Given the description of an element on the screen output the (x, y) to click on. 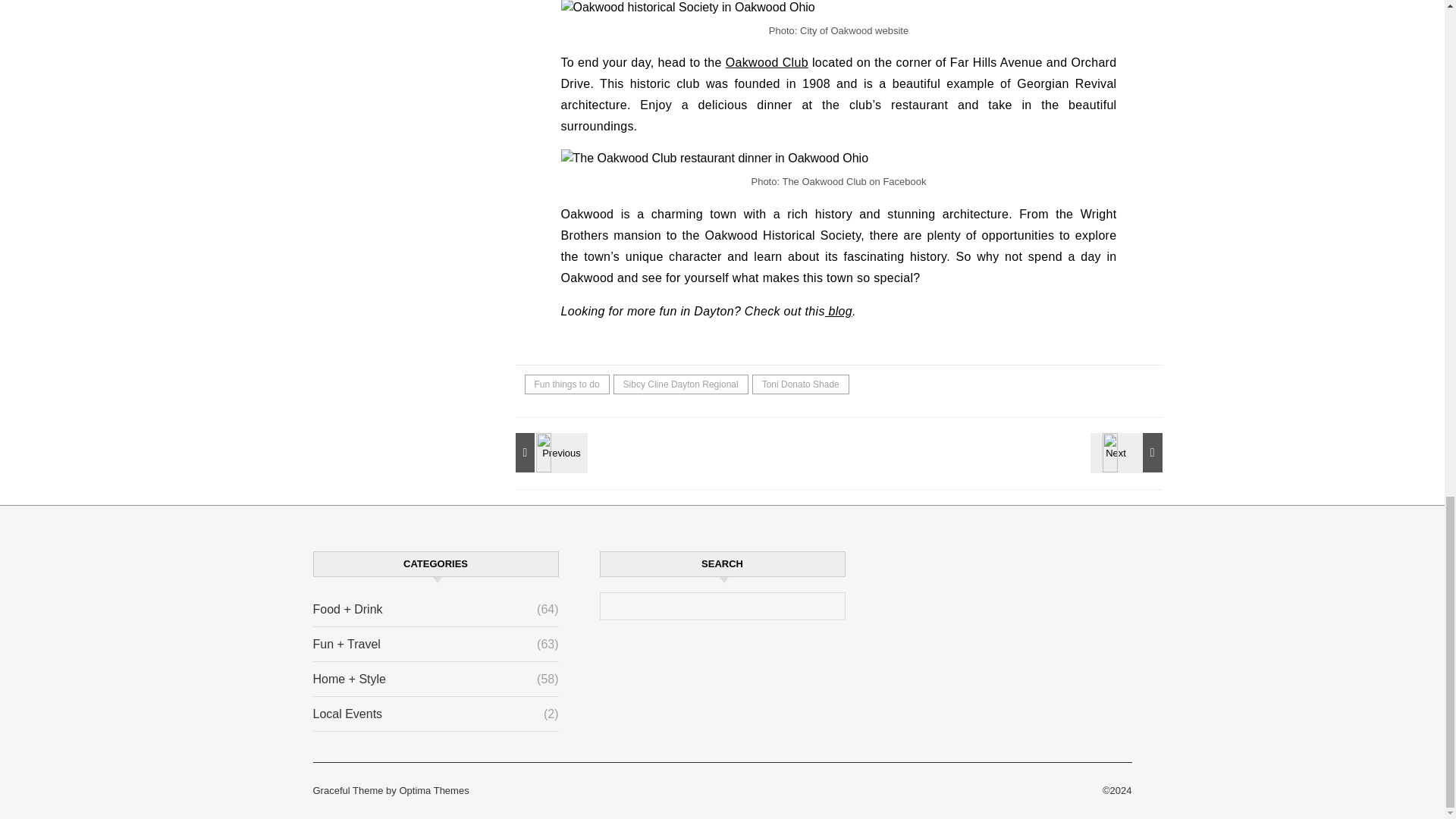
Oakwood Club (766, 62)
blog (838, 310)
Local Events (347, 713)
Toni Donato Shade (800, 383)
Optima Themes (433, 790)
Sibcy Cline Dayton Regional (680, 383)
Search (818, 609)
Fun things to do (567, 383)
